Given the description of an element on the screen output the (x, y) to click on. 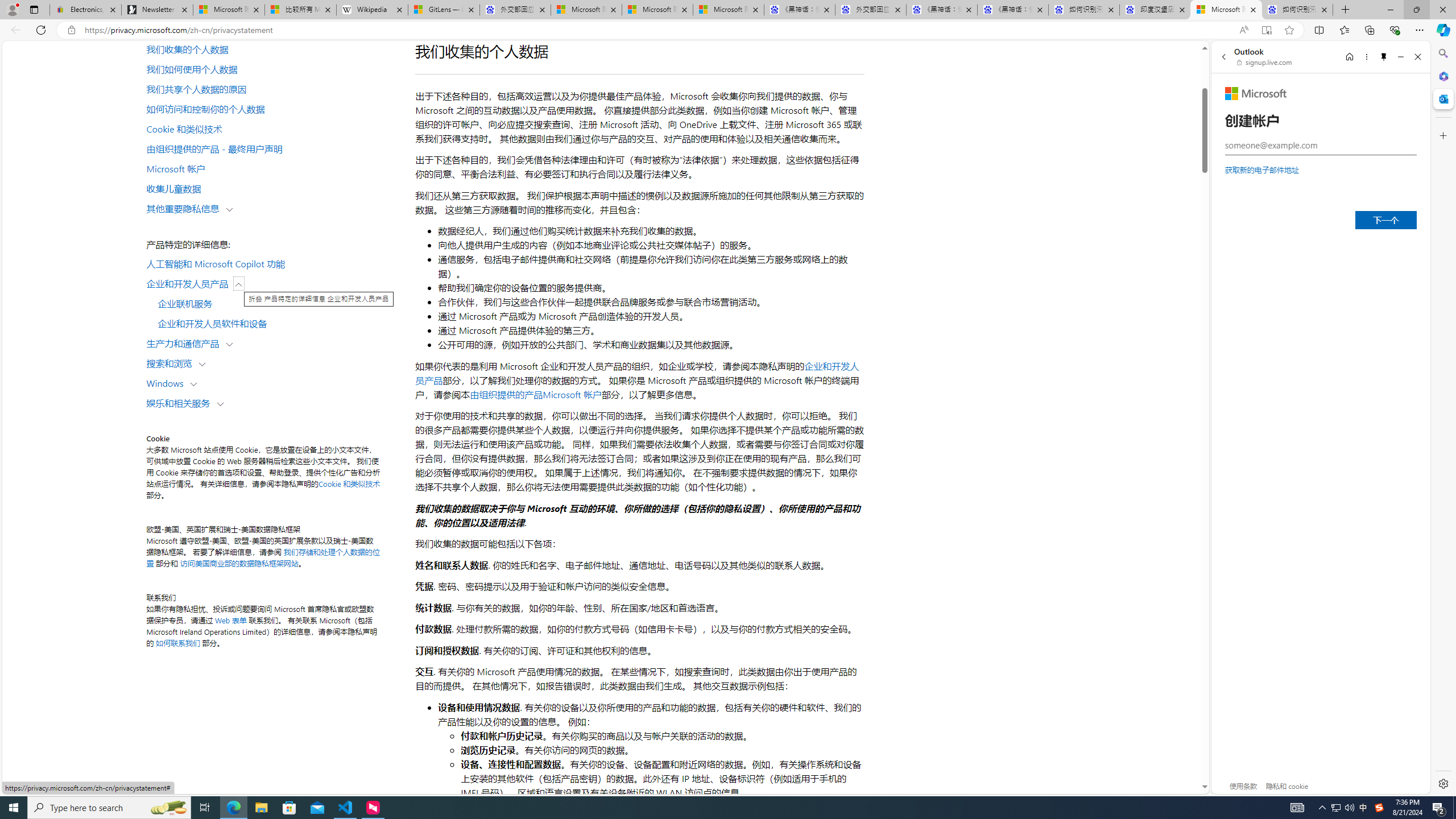
Electronics, Cars, Fashion, Collectibles & More | eBay (85, 9)
Enter Immersive Reader (F9) (1266, 29)
Windows (167, 382)
